Given the description of an element on the screen output the (x, y) to click on. 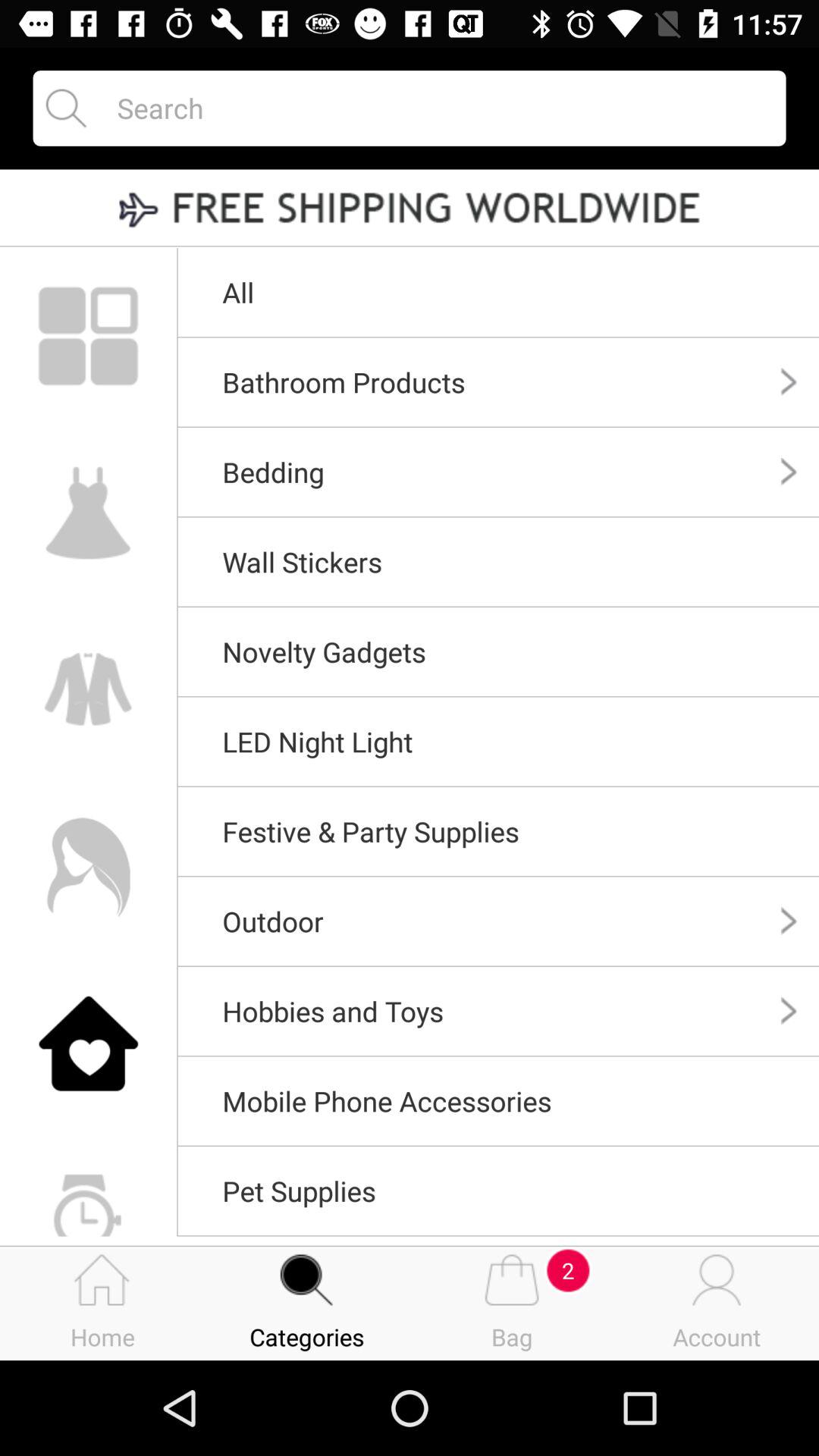
enter search terms (437, 108)
